Given the description of an element on the screen output the (x, y) to click on. 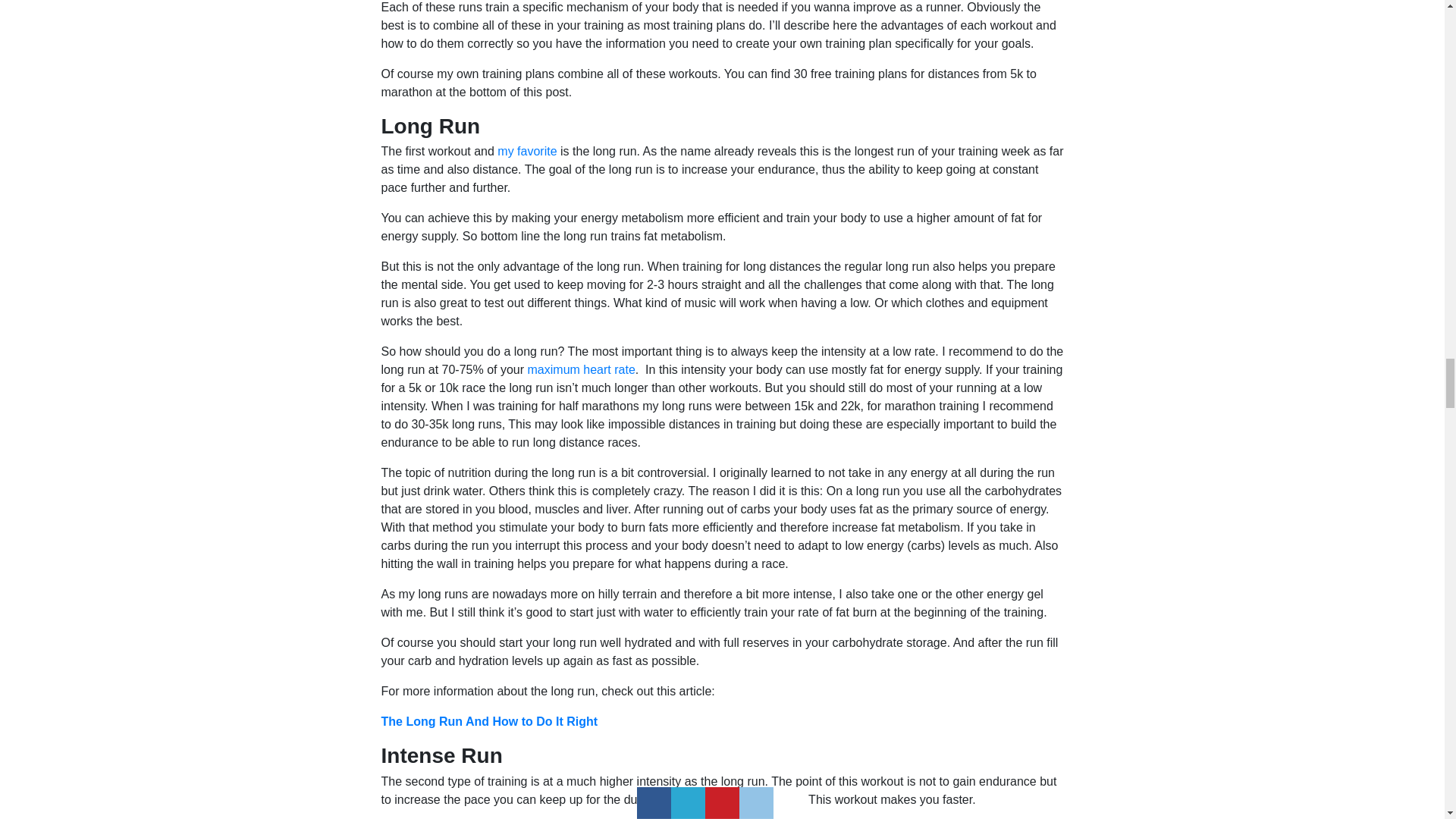
The Long Run And How to Do It Right (488, 721)
maximum heart rate (580, 369)
my favorite (526, 151)
